Given the description of an element on the screen output the (x, y) to click on. 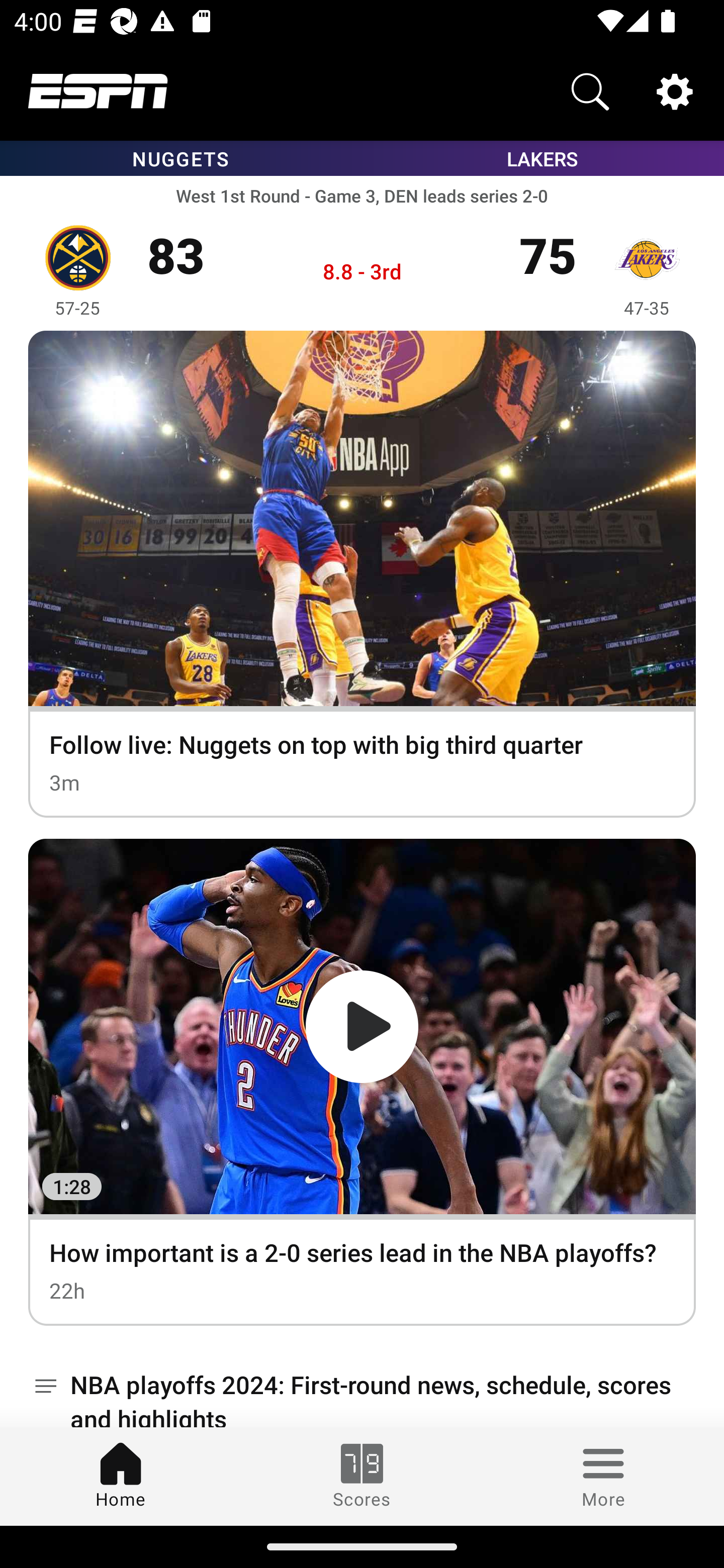
Search (590, 90)
Settings (674, 90)
Scores (361, 1475)
More (603, 1475)
